Given the description of an element on the screen output the (x, y) to click on. 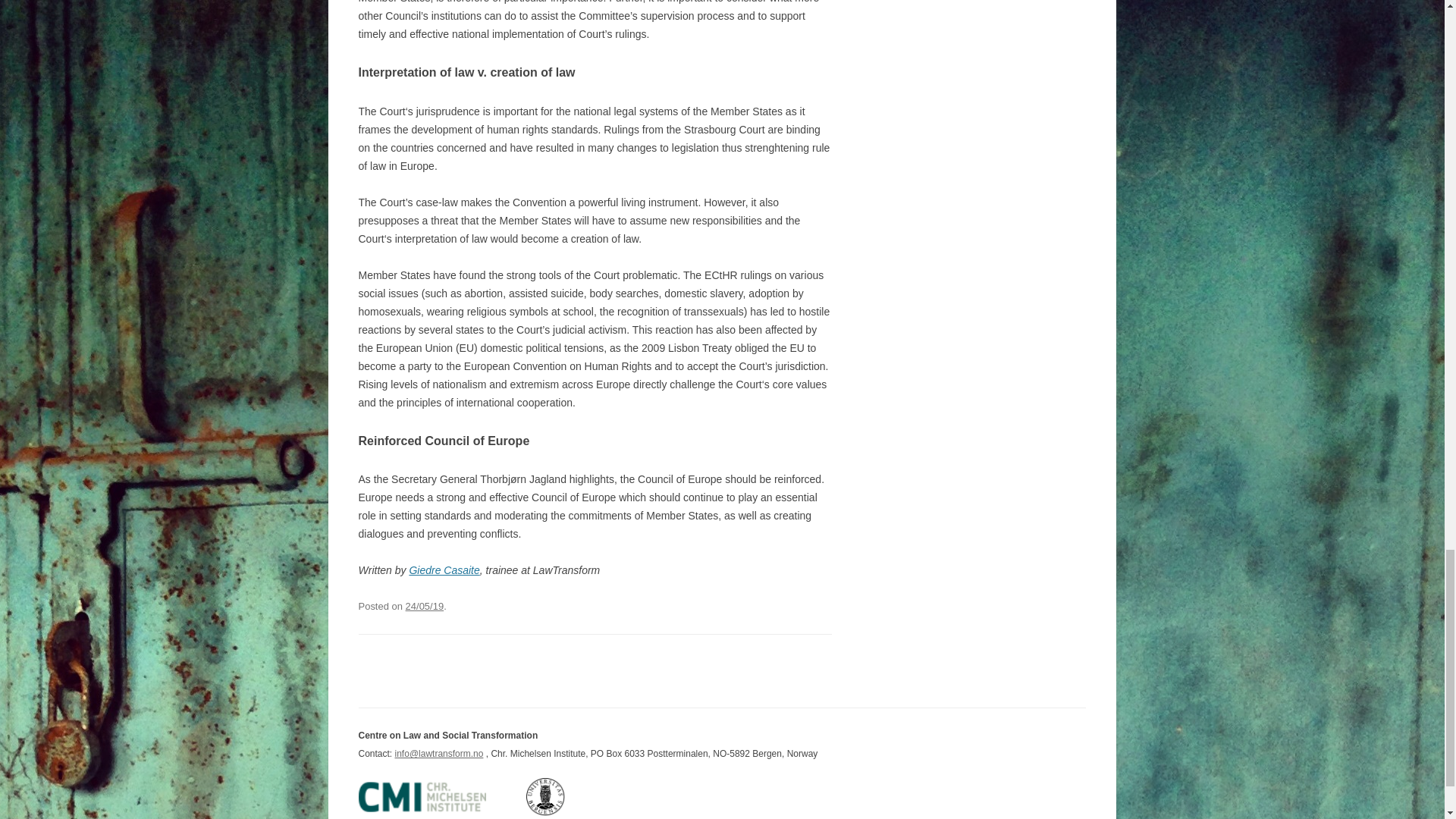
CMI - Chr. Michelsen Institute (440, 812)
4:14 pm (425, 605)
